Given the description of an element on the screen output the (x, y) to click on. 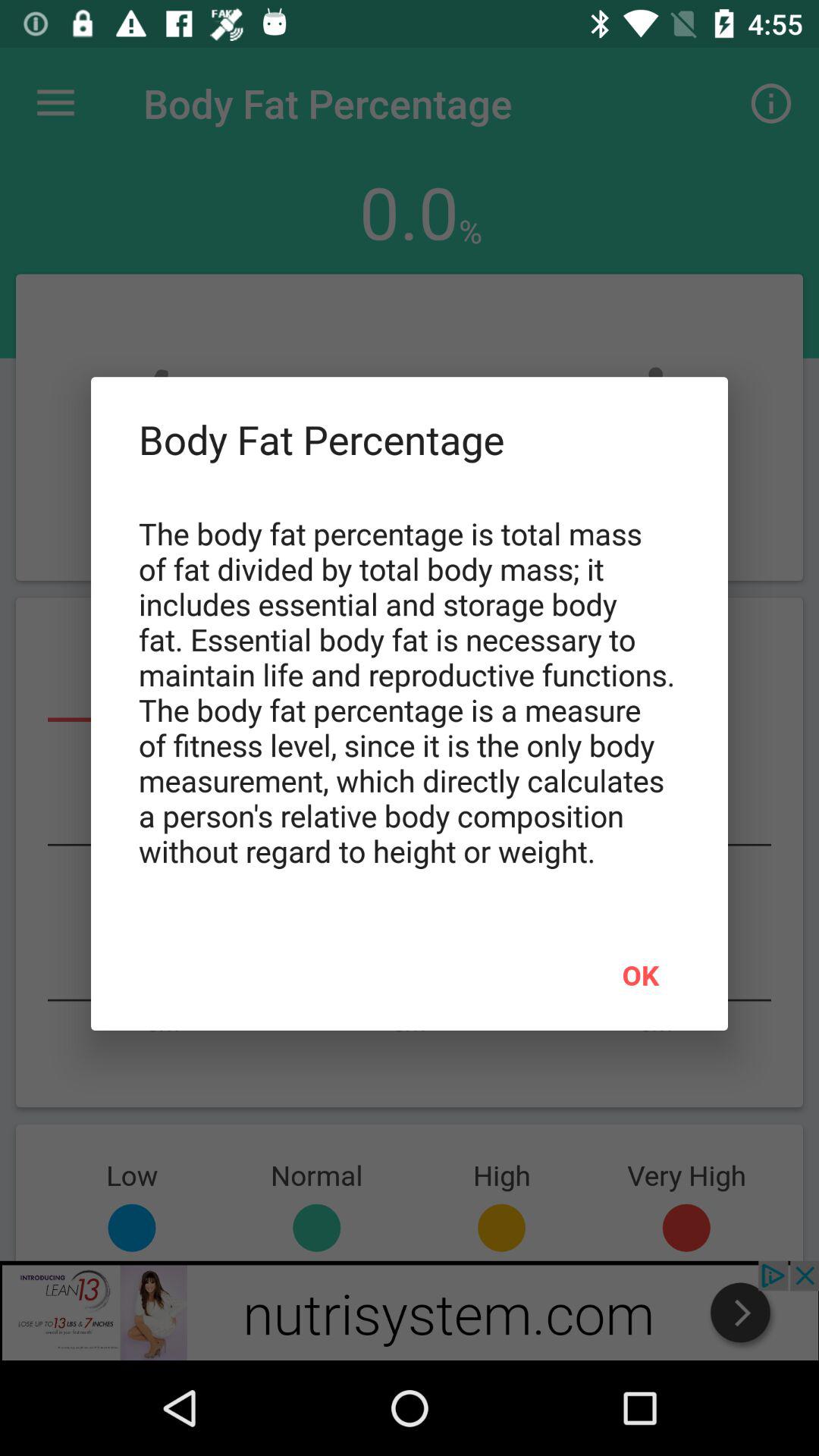
select ok (640, 974)
